Given the description of an element on the screen output the (x, y) to click on. 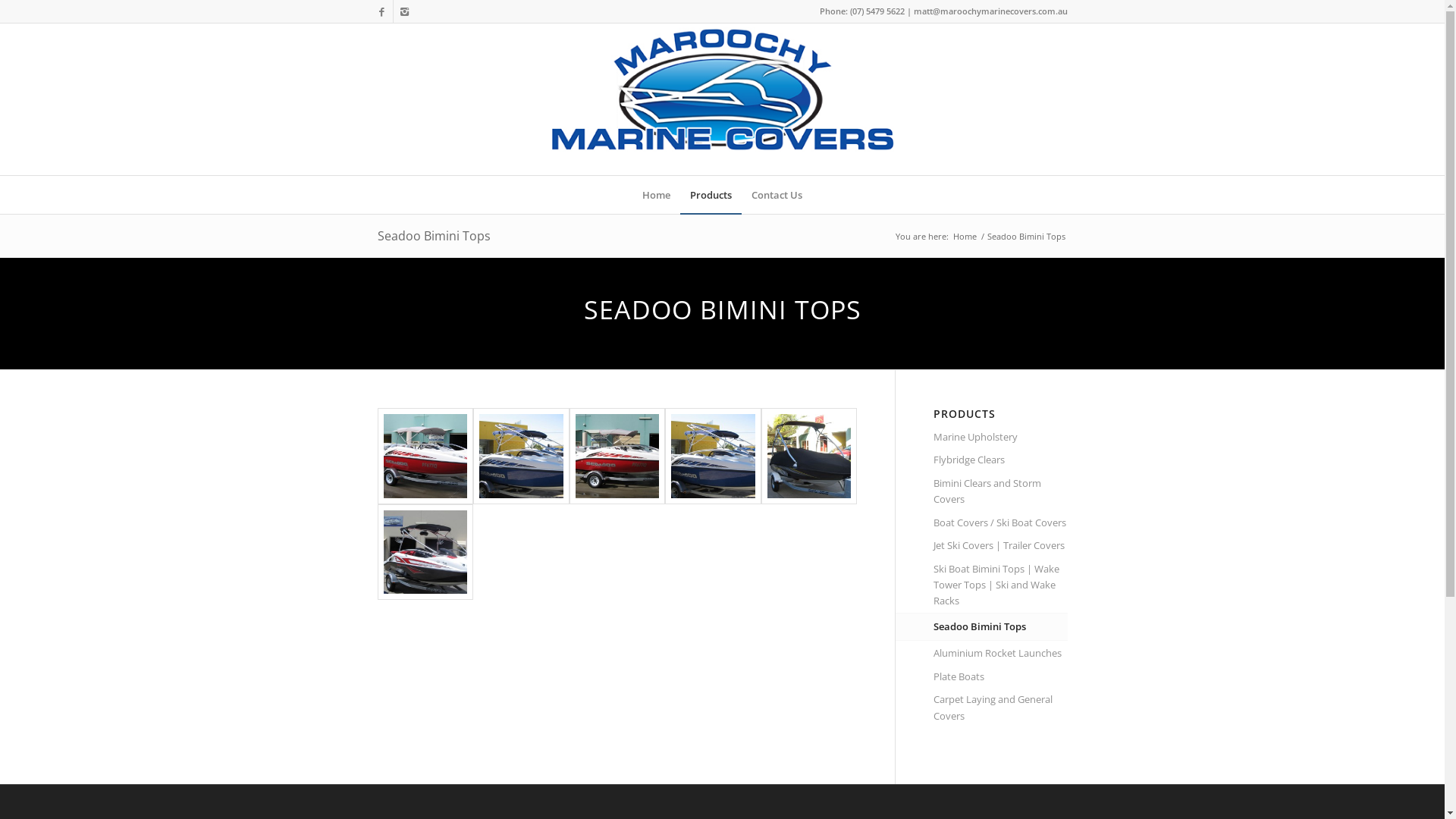
Jet Ski Covers | Trailer Covers Element type: text (1000, 545)
maroochy_marine_covers_sea_doo_covers_3 Element type: hover (616, 455)
Ski Boat Bimini Tops | Wake Tower Tops | Ski and Wake Racks Element type: text (1000, 585)
Carpet Laying and General Covers Element type: text (1000, 708)
Facebook Element type: hover (381, 11)
Products Element type: text (710, 194)
Flybridge Clears Element type: text (1000, 459)
Boat Covers / Ski Boat Covers Element type: text (1000, 522)
Bimini Clears and Storm Covers Element type: text (1000, 491)
Seadoo Bimini Tops Element type: text (1000, 627)
Home Element type: text (964, 235)
Marine Upholstery Element type: text (1000, 437)
maroochy_marine_covers_sea_doo_covers_6 Element type: hover (425, 552)
maroochy_marine_covers_sea_doo_covers_5 Element type: hover (809, 455)
Aluminium Rocket Launches Element type: text (1000, 653)
maroochy_marine_covers_sea_doo_covers_1 Element type: hover (425, 455)
Instagram Element type: hover (403, 11)
Seadoo Bimini Tops Element type: text (433, 235)
maroochy_marine_covers_sea_doo_covers_4 Element type: hover (713, 455)
Contact Us Element type: text (776, 194)
maroochy_marine_covers_sea_doo_covers_2 Element type: hover (521, 455)
Plate Boats Element type: text (1000, 676)
Home Element type: text (656, 194)
